Given the description of an element on the screen output the (x, y) to click on. 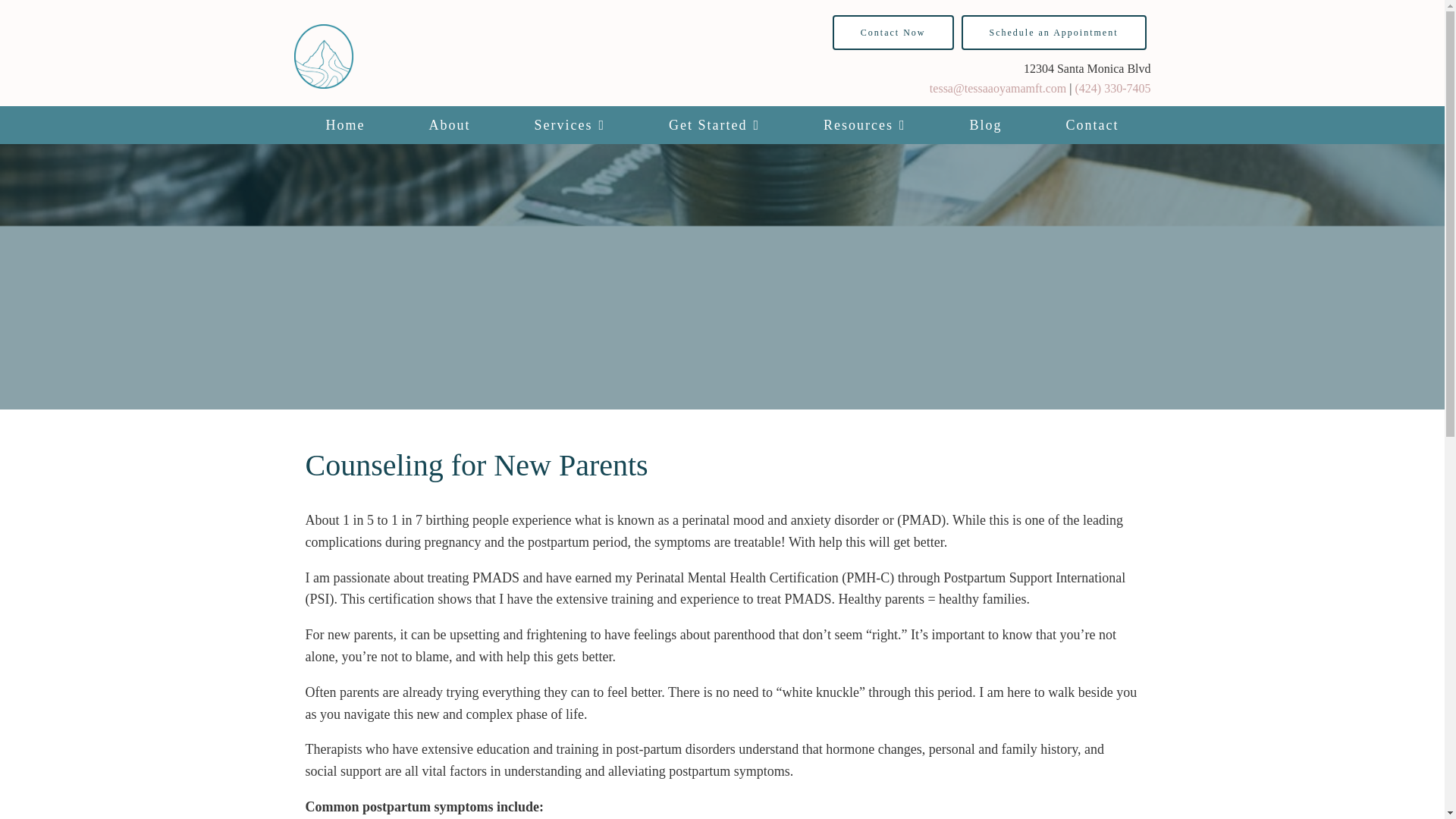
About (449, 125)
Services (569, 125)
Schedule an Appointment (1053, 32)
Home (345, 125)
Contact Now (892, 32)
Resources (864, 125)
Get Started (714, 125)
Blog (985, 125)
Contact (1092, 125)
